Given the description of an element on the screen output the (x, y) to click on. 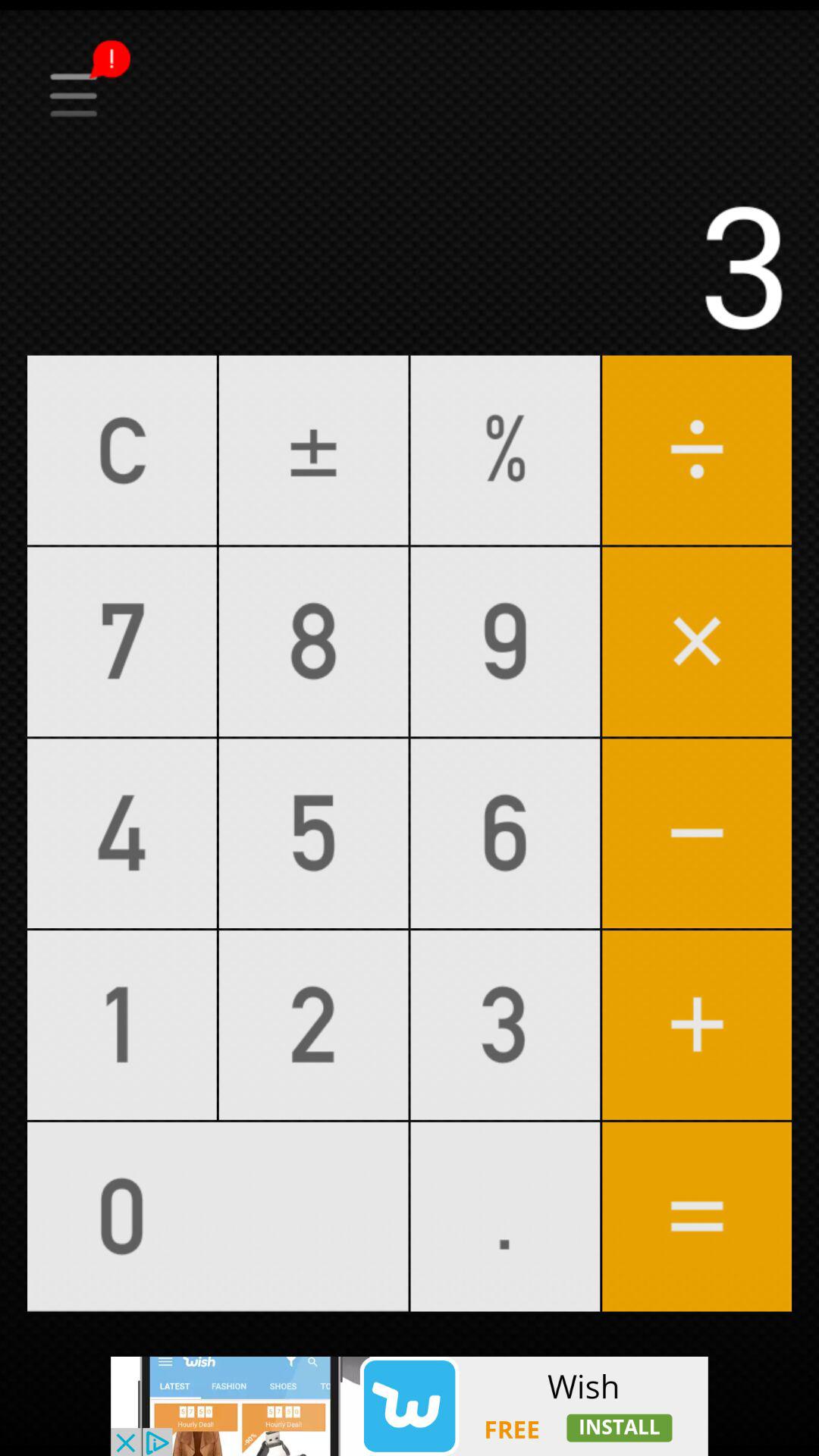
go to save (409, 47)
